Given the description of an element on the screen output the (x, y) to click on. 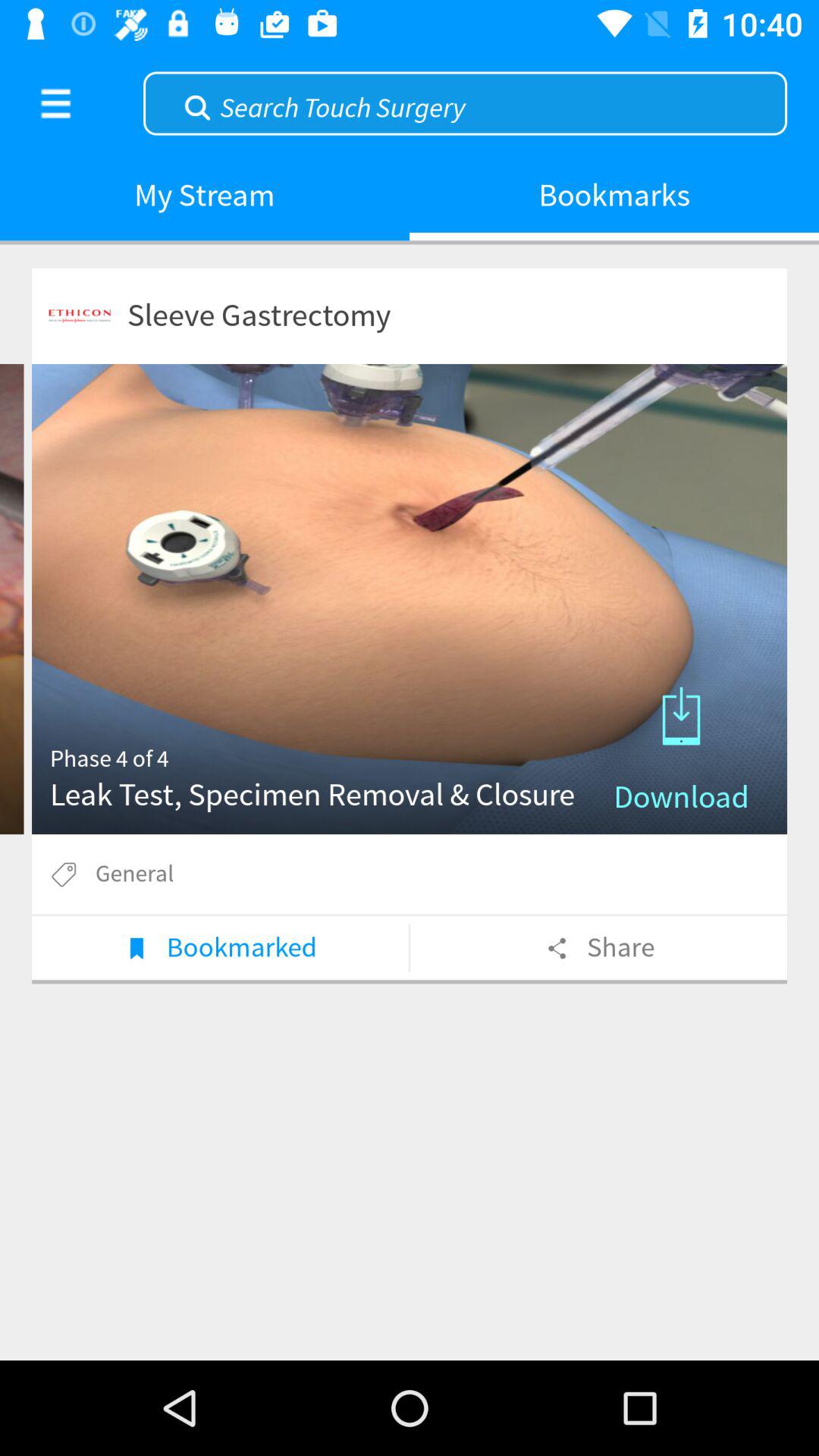
enter search terms here (465, 102)
